Given the description of an element on the screen output the (x, y) to click on. 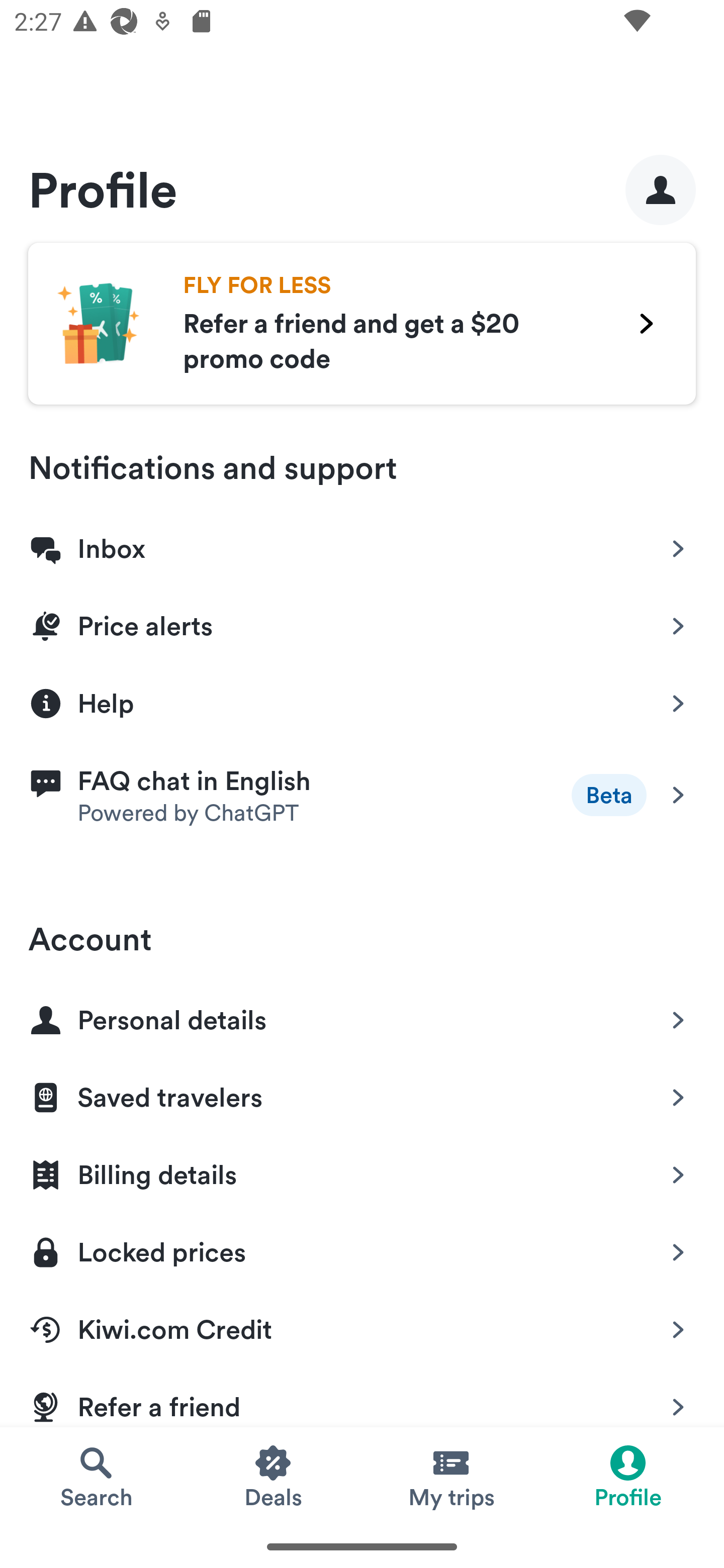
profile picture (660, 189)
Inbox (362, 544)
Price alerts (362, 622)
Help (362, 701)
Beta FAQ chat in English Powered by ChatGPT (362, 794)
Personal details (362, 1016)
Saved travelers (362, 1093)
Billing details (362, 1171)
Locked prices (362, 1248)
Kiwi.com Credit (362, 1326)
Refer a friend (362, 1395)
Search (95, 1475)
Deals (273, 1475)
My trips (450, 1475)
